Given the description of an element on the screen output the (x, y) to click on. 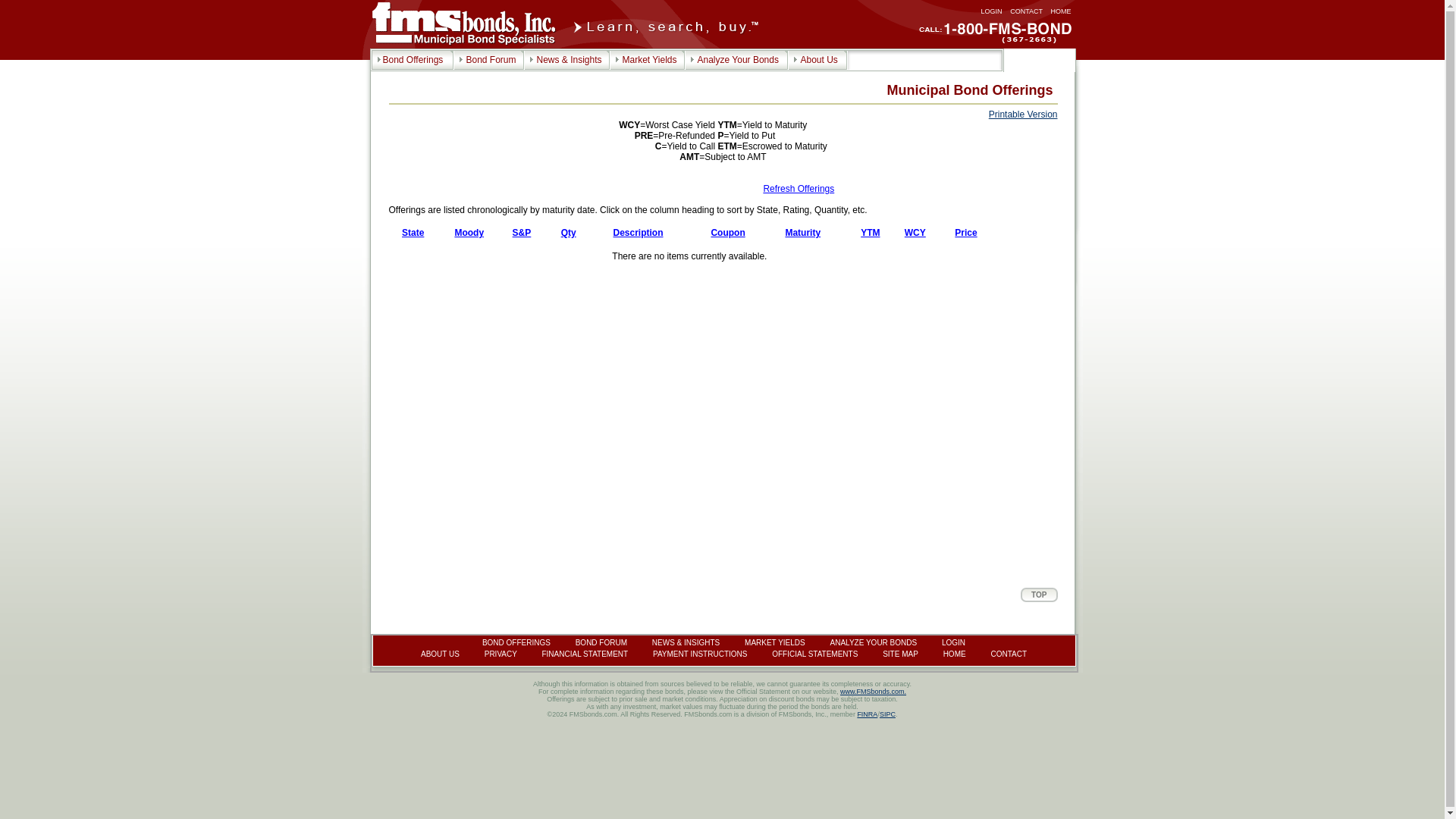
MARKET YIELDS (774, 642)
YTM (869, 232)
FINANCIAL STATEMENT (584, 654)
Printable Version (1023, 113)
Coupon (727, 232)
LOGIN (992, 11)
Analyze Your Bonds (735, 60)
TOP (1038, 593)
CONTACT (1026, 11)
SITE MAP (900, 654)
